Given the description of an element on the screen output the (x, y) to click on. 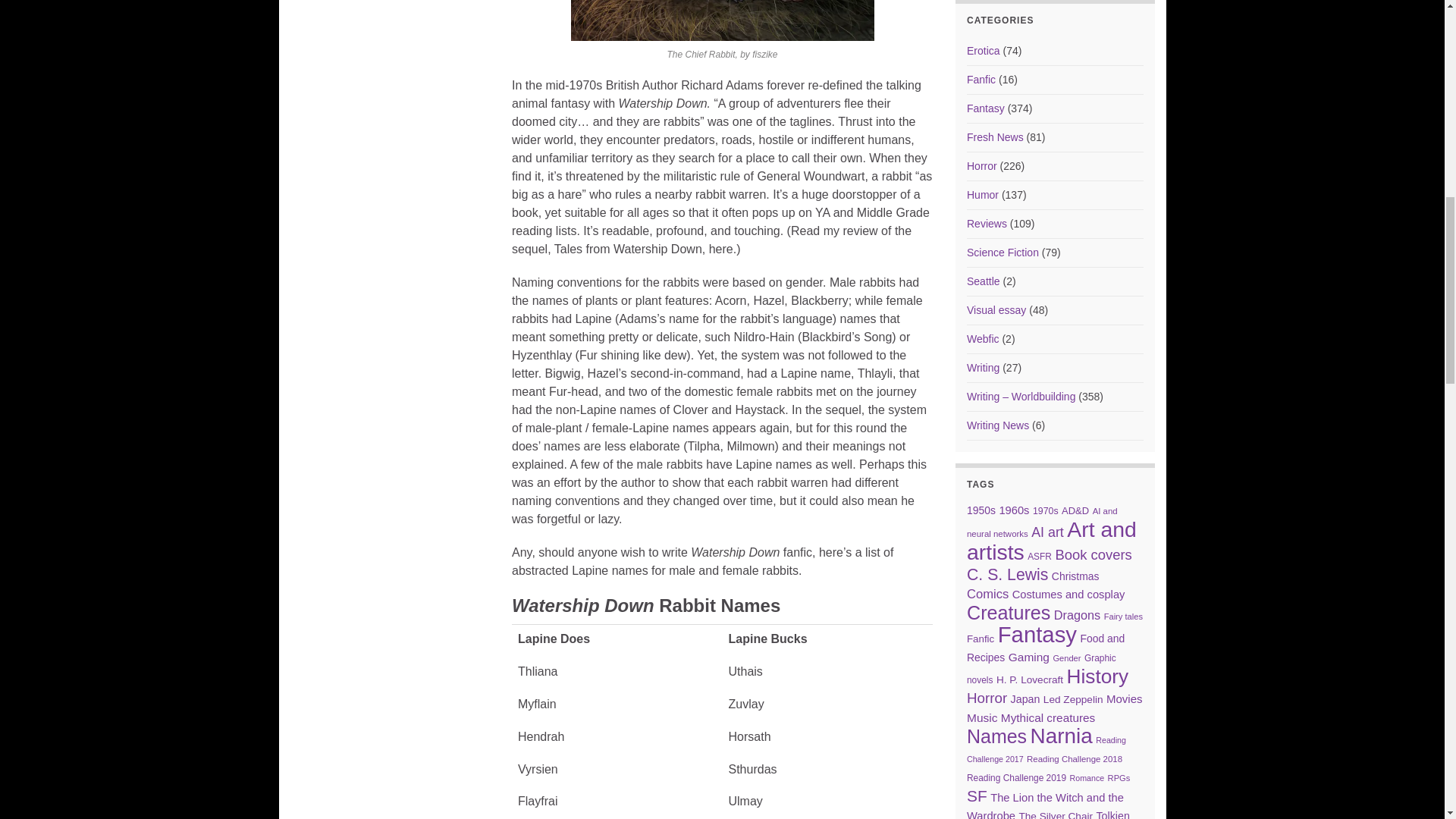
Fanfic (980, 79)
Fresh News (994, 137)
Erotica (983, 50)
Fantasy (985, 108)
